Given the description of an element on the screen output the (x, y) to click on. 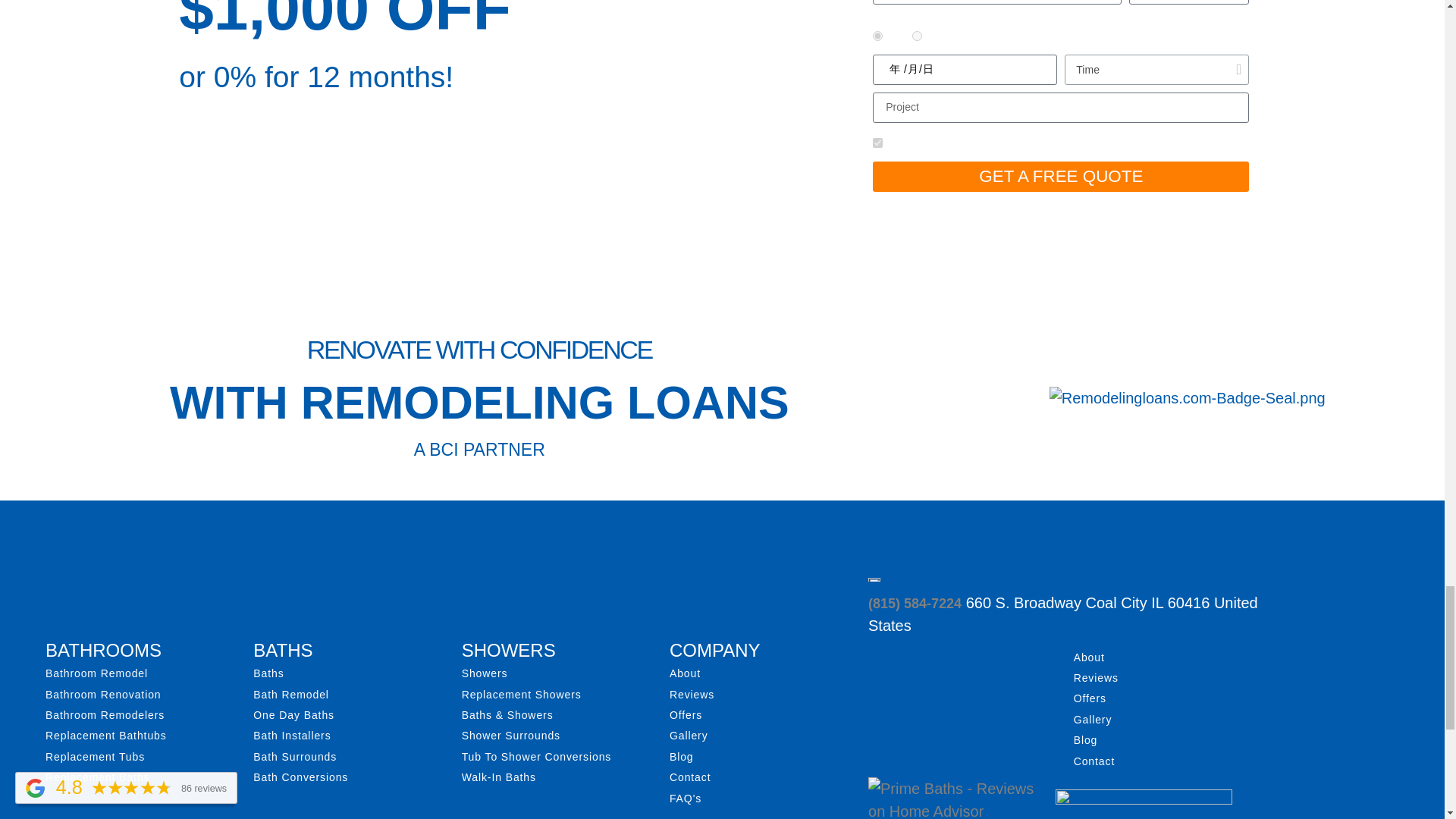
No (916, 35)
on (877, 143)
Remodelingloans.com-Badge-Seal.png (1186, 397)
Yes (877, 35)
